Given the description of an element on the screen output the (x, y) to click on. 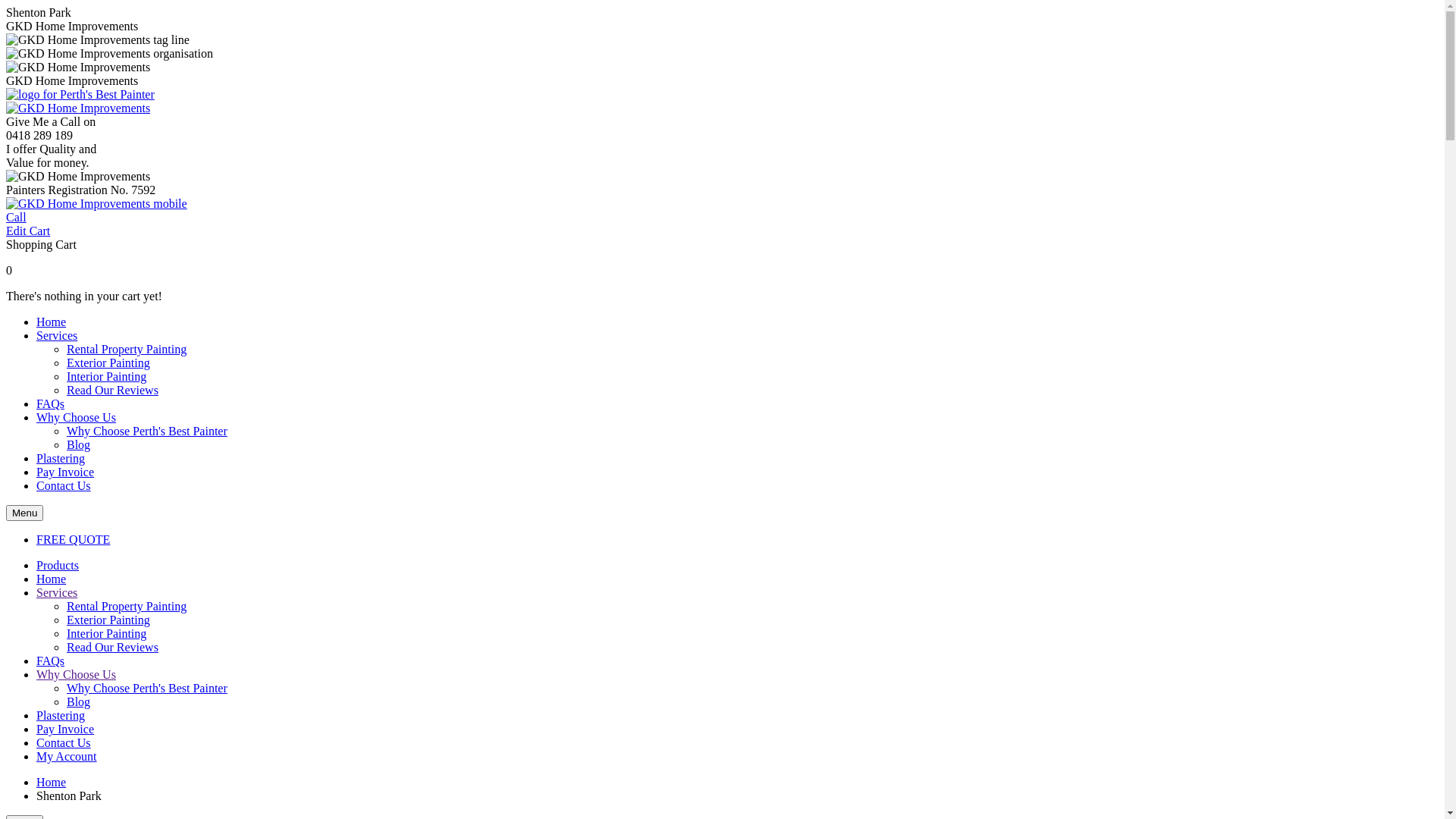
Exterior Painting Element type: text (108, 362)
Home Element type: text (50, 578)
Interior Painting Element type: text (106, 633)
Blog Element type: text (78, 444)
Contact Us Element type: text (63, 485)
Plastering Element type: text (60, 715)
Rental Property Painting Element type: text (126, 348)
Contact Us Element type: text (63, 742)
Services Element type: text (56, 592)
My Account Element type: text (66, 755)
Home Element type: text (50, 781)
Call Element type: text (16, 216)
Interior Painting Element type: text (106, 376)
Services Element type: text (56, 335)
Why Choose Us Element type: text (76, 417)
Read Our Reviews Element type: text (112, 646)
Read Our Reviews Element type: text (112, 389)
FREE QUOTE Element type: text (72, 539)
Why Choose Us Element type: text (76, 674)
Why Choose Perth's Best Painter Element type: text (146, 687)
Blog Element type: text (78, 701)
FAQs Element type: text (50, 403)
Why Choose Perth's Best Painter Element type: text (146, 430)
Products Element type: text (57, 564)
Pay Invoice Element type: text (65, 471)
Edit Cart Element type: text (28, 230)
Menu Element type: text (24, 512)
Exterior Painting Element type: text (108, 619)
Pay Invoice Element type: text (65, 728)
FAQs Element type: text (50, 660)
Plastering Element type: text (60, 457)
Rental Property Painting Element type: text (126, 605)
Home Element type: text (50, 321)
